Given the description of an element on the screen output the (x, y) to click on. 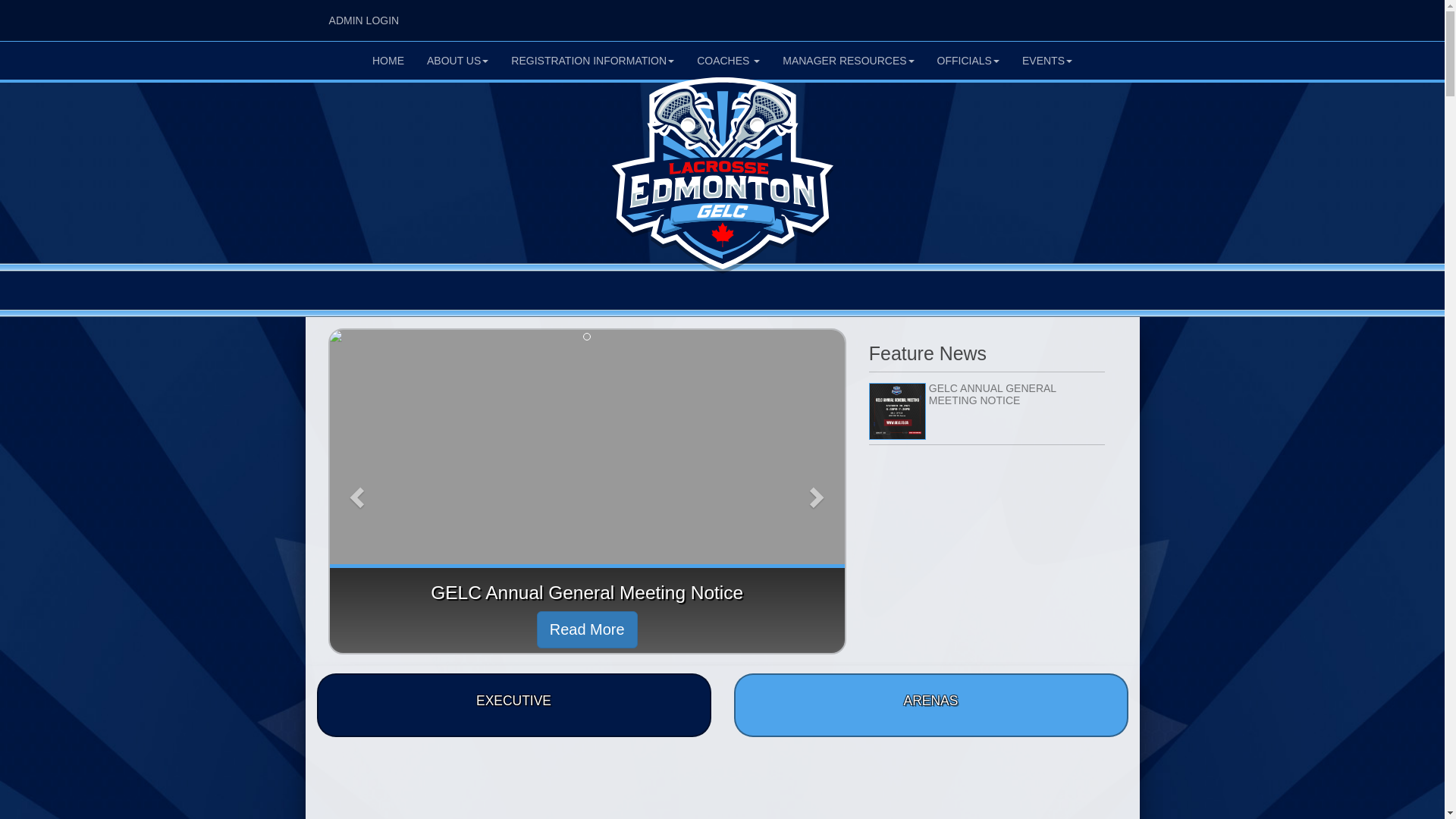
 ADMIN LOGIN
ADMIN LOGIN Element type: text (362, 20)
EXECUTIVE Element type: text (513, 705)
Previous Element type: text (354, 492)
Read More Element type: text (586, 629)
OFFICIALS Element type: text (967, 60)
REGISTRATION INFORMATION Element type: text (592, 60)
Next Element type: text (818, 492)
ABOUT US Element type: text (457, 60)
MANAGER RESOURCES Element type: text (848, 60)
ARENAS Element type: text (931, 705)
EVENTS Element type: text (1046, 60)
COACHES Element type: text (728, 60)
Instagram Element type: text (1106, 15)
HOME Element type: text (387, 60)
